Given the description of an element on the screen output the (x, y) to click on. 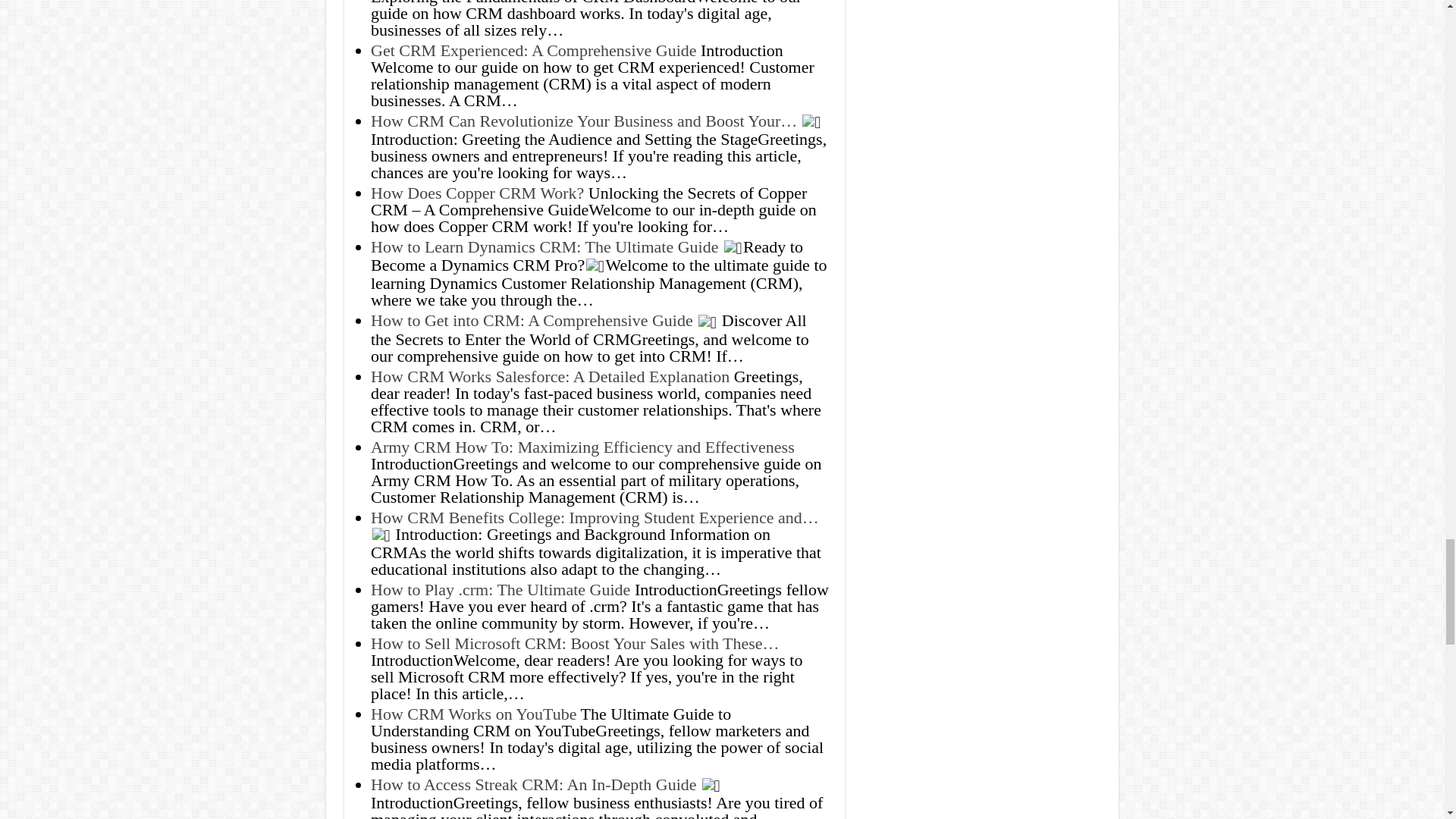
How to Learn Dynamics CRM: The Ultimate Guide (544, 246)
Get CRM Experienced: A Comprehensive Guide (534, 49)
How to Get into CRM: A Comprehensive Guide (532, 320)
How CRM Works Salesforce: A Detailed Explanation (550, 375)
How Does Copper CRM Work? (477, 192)
